Given the description of an element on the screen output the (x, y) to click on. 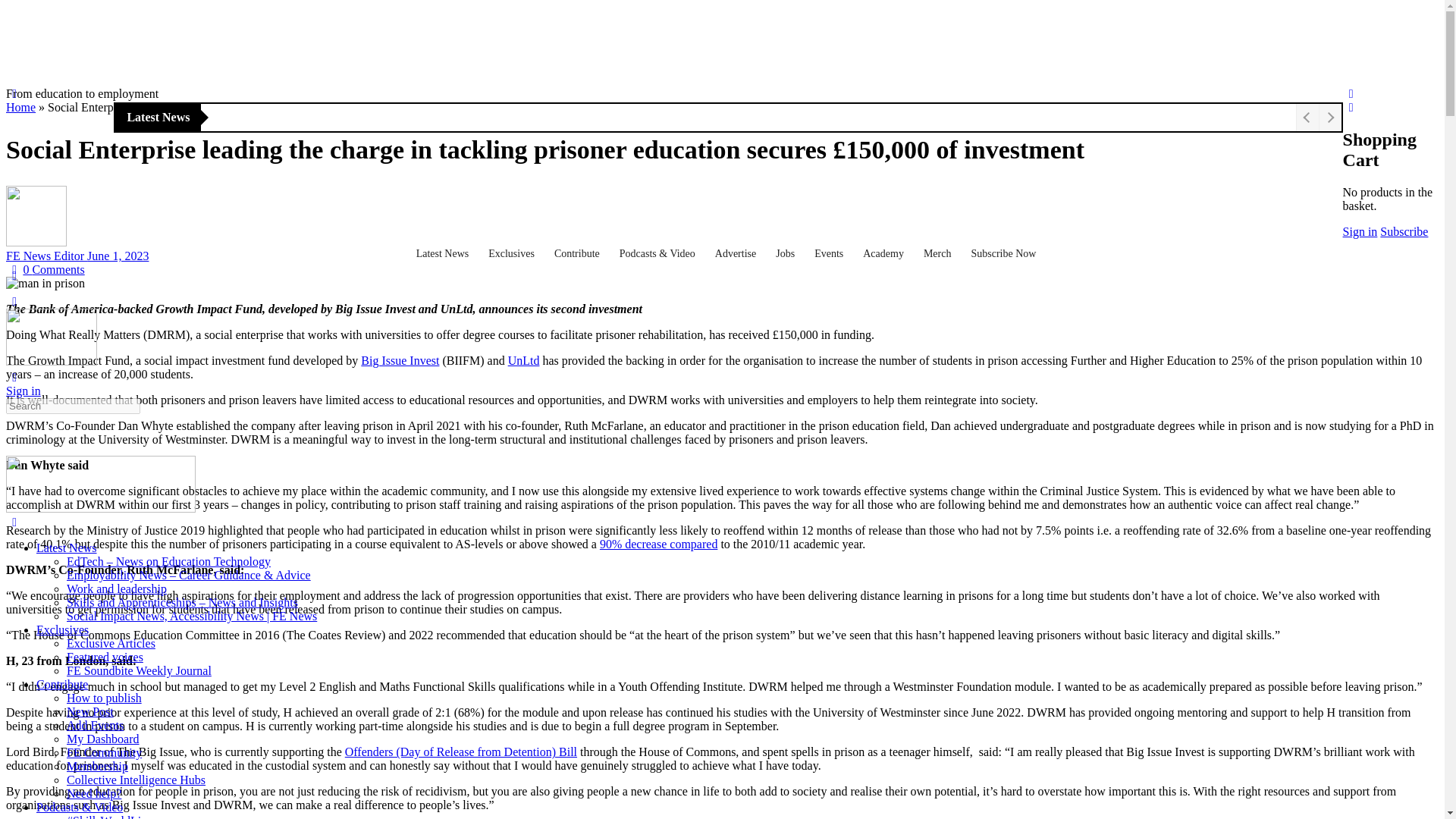
Exclusives (513, 254)
Latest News (445, 254)
Subscribe (1404, 231)
Sign in (1359, 231)
